Given the description of an element on the screen output the (x, y) to click on. 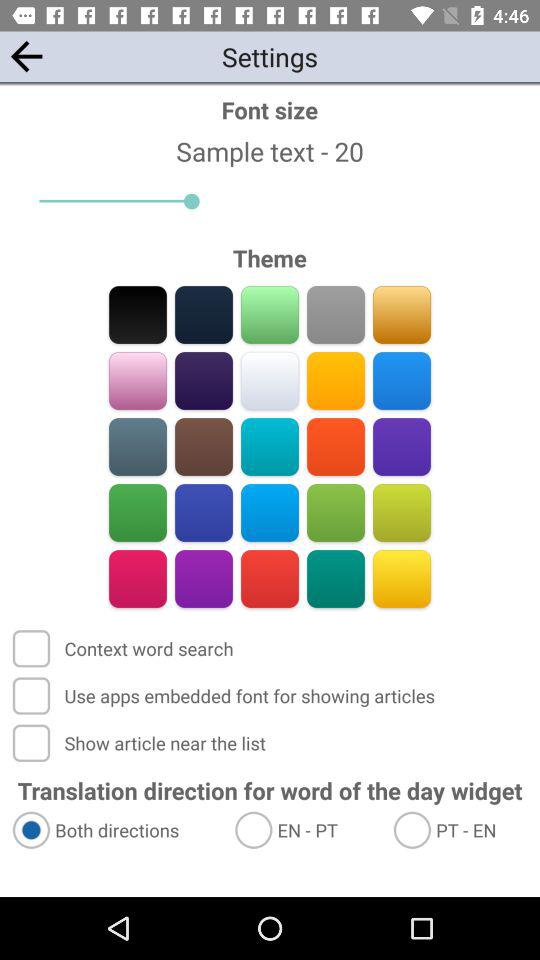
choose color (335, 446)
